Given the description of an element on the screen output the (x, y) to click on. 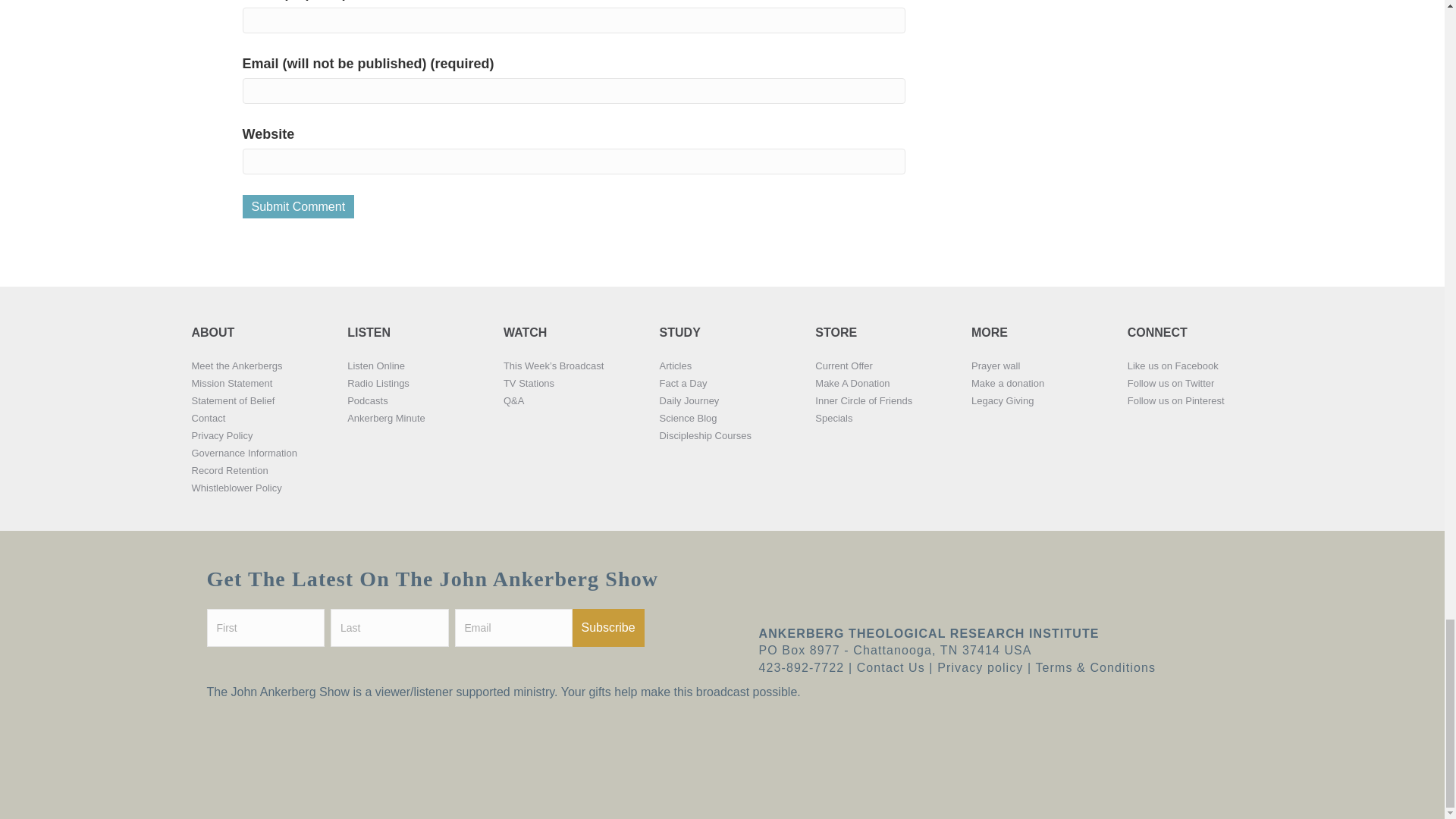
Subscribe (607, 628)
Submit Comment (299, 206)
